Given the description of an element on the screen output the (x, y) to click on. 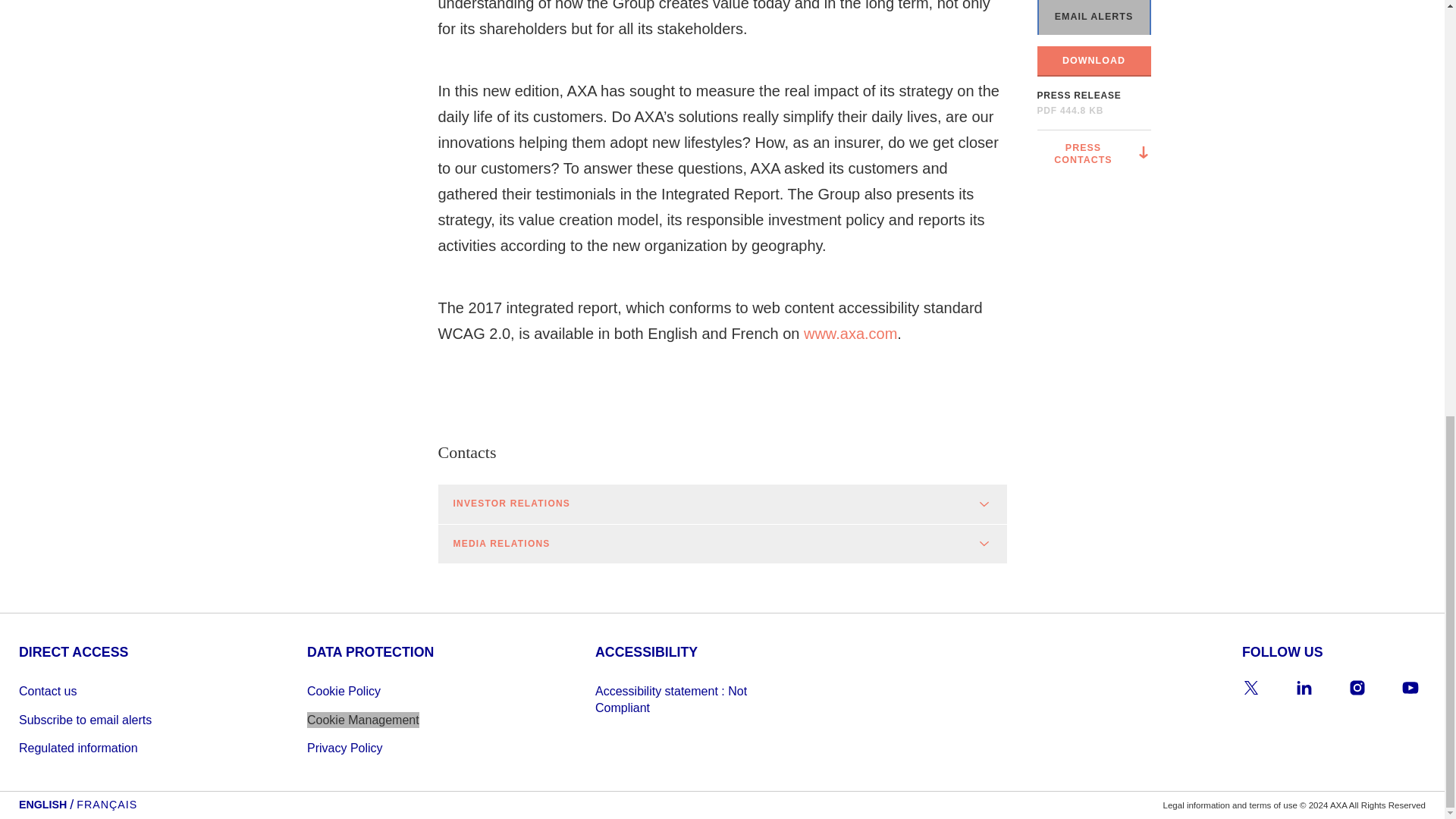
Linkedin (1304, 687)
Accessibility statement : Not Compliant (689, 699)
Privacy Policy (401, 747)
Youtube (1409, 687)
Regulated information (113, 747)
Cookie Policy (401, 691)
Instagram (1357, 687)
Linkedin (1303, 687)
Subscribe to email alerts (113, 719)
Legal information and terms of use (1230, 804)
www.axa.com (849, 333)
Contact us (113, 691)
Cookie Management (363, 719)
Instagram (1357, 687)
Youtube (1409, 687)
